Given the description of an element on the screen output the (x, y) to click on. 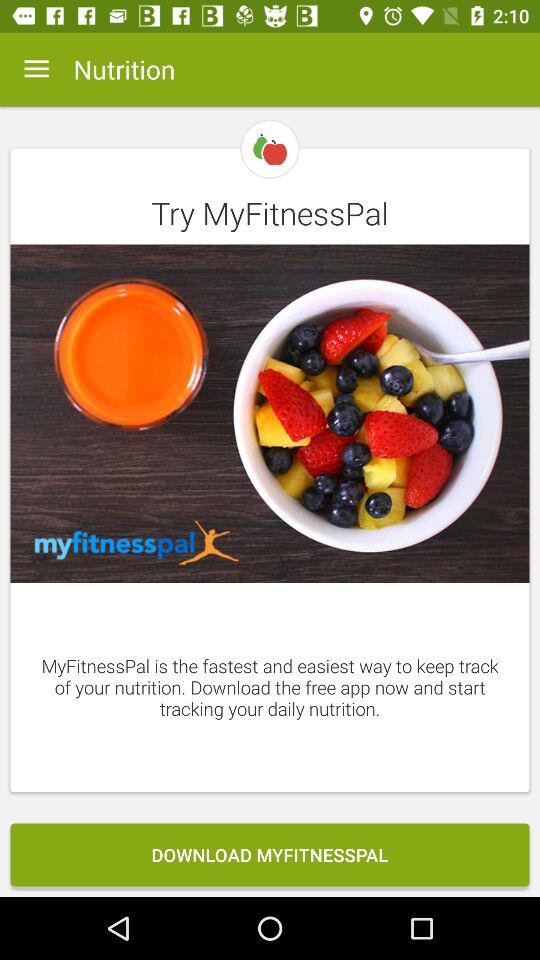
turn off icon above the try myfitnesspal (36, 69)
